Given the description of an element on the screen output the (x, y) to click on. 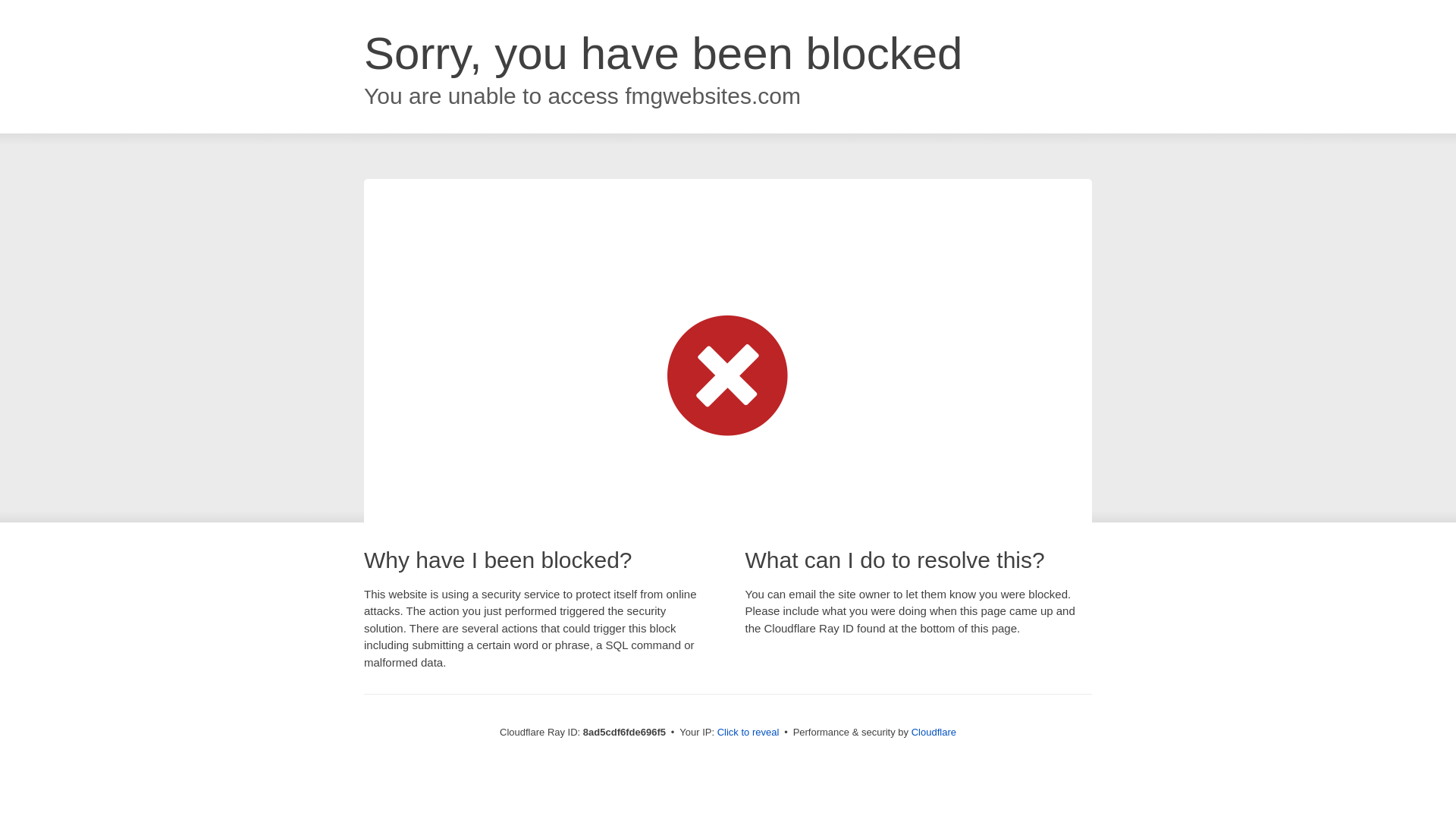
Click to reveal (747, 732)
Cloudflare (933, 731)
